Given the description of an element on the screen output the (x, y) to click on. 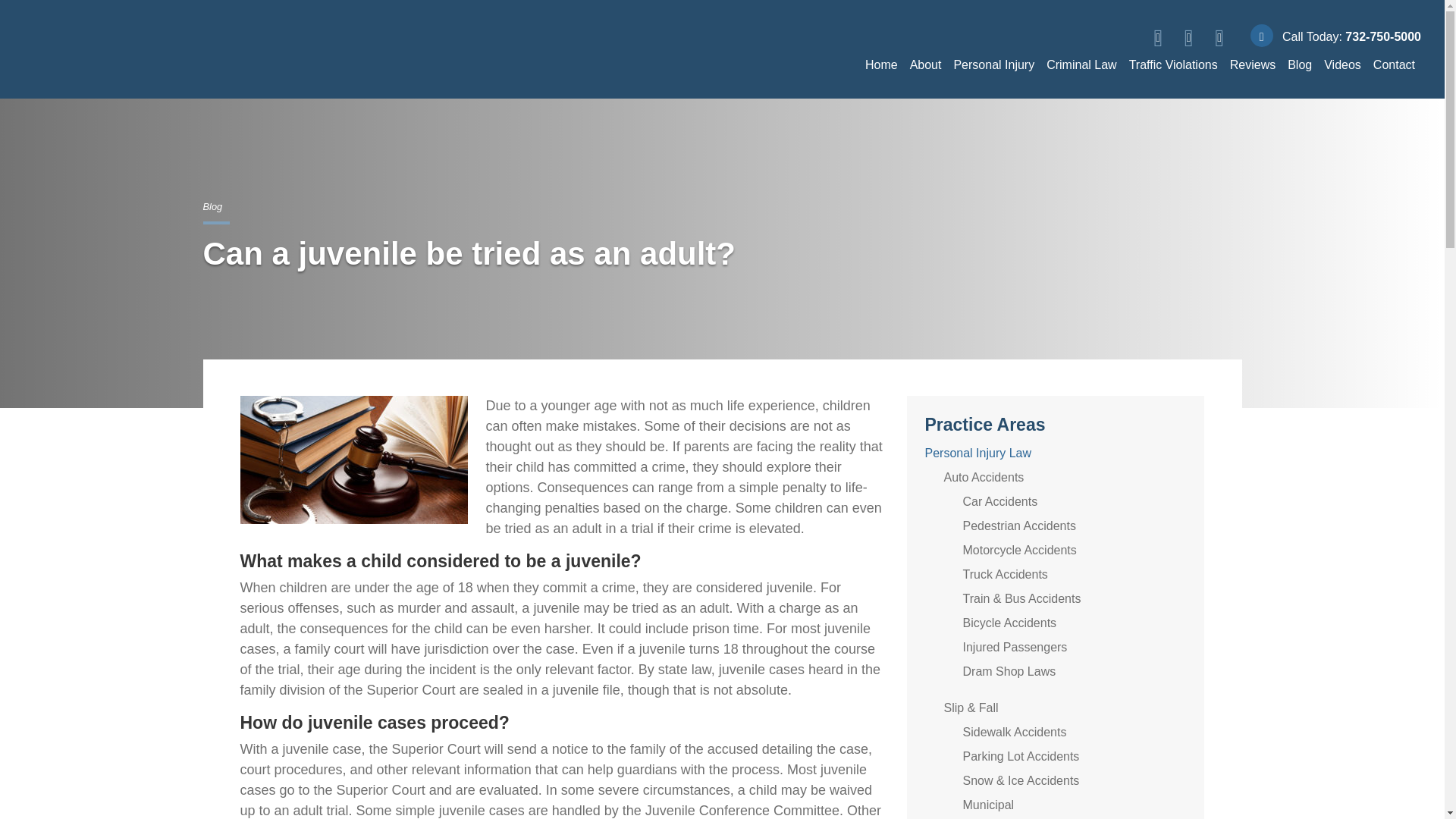
Personal Injury (994, 64)
Home (881, 64)
732-750-5000 (1383, 36)
About (925, 64)
Criminal Law (1081, 64)
